Given the description of an element on the screen output the (x, y) to click on. 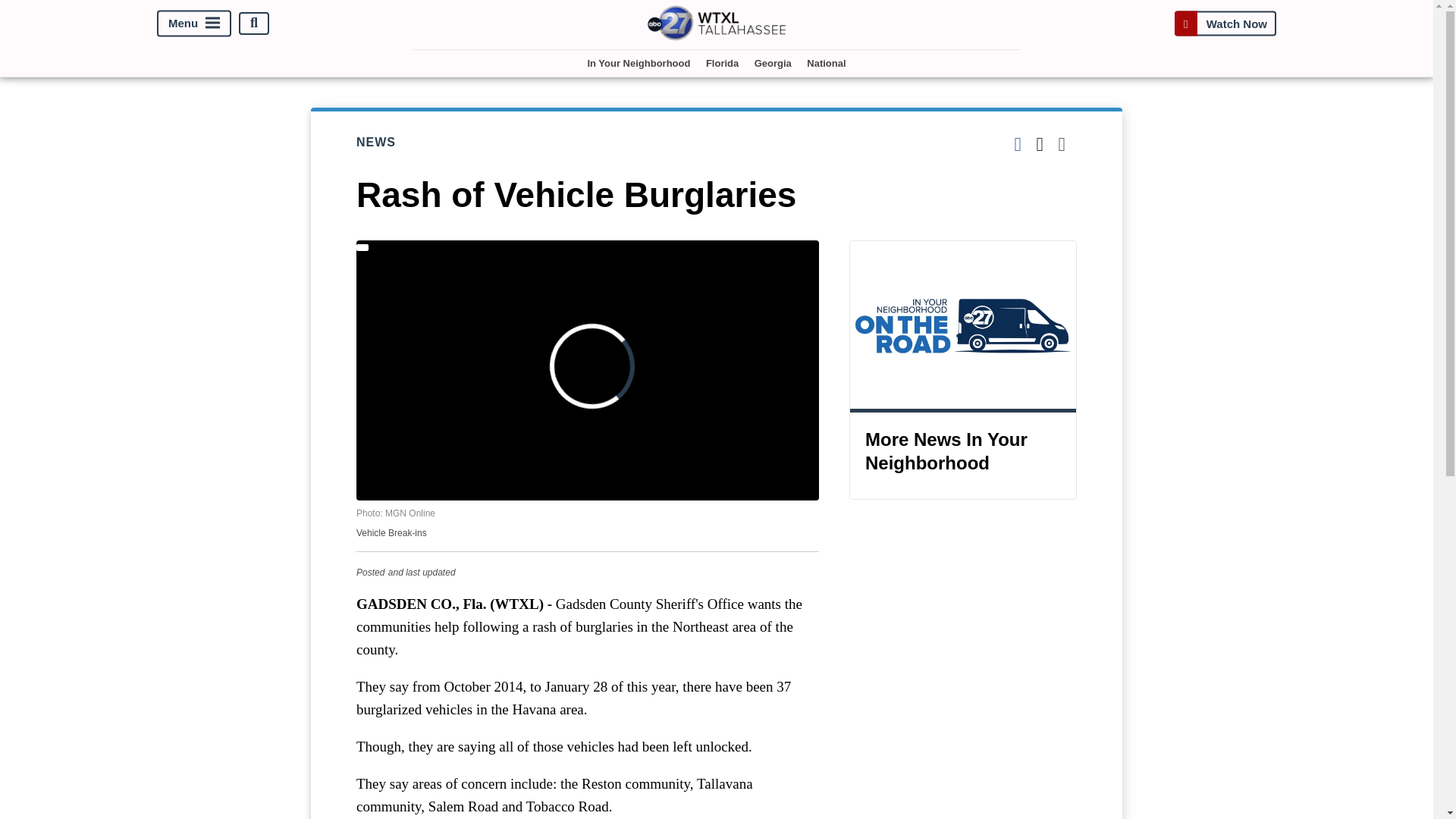
Menu (194, 22)
Watch Now (1224, 22)
